Given the description of an element on the screen output the (x, y) to click on. 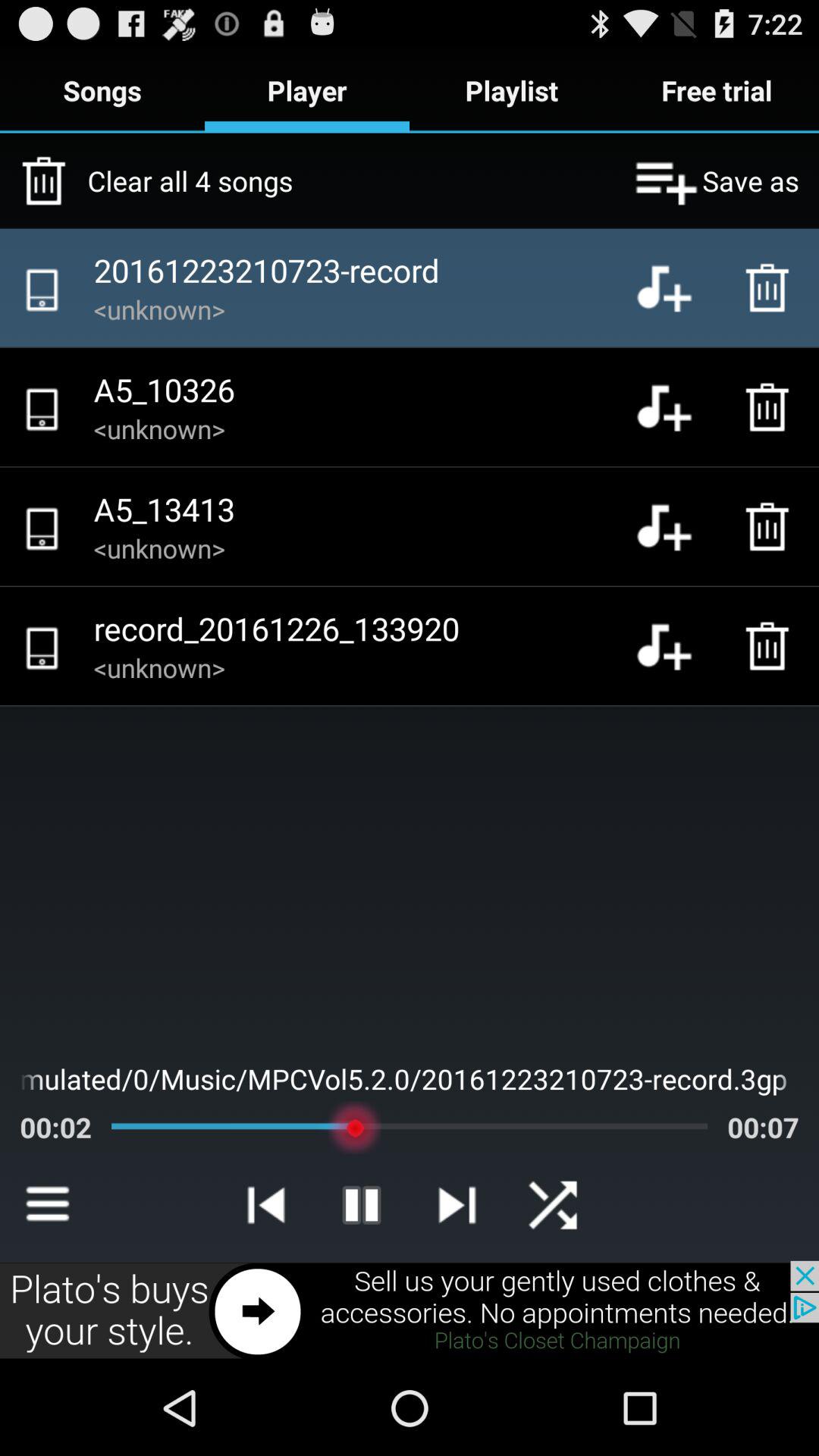
delete (771, 287)
